Given the description of an element on the screen output the (x, y) to click on. 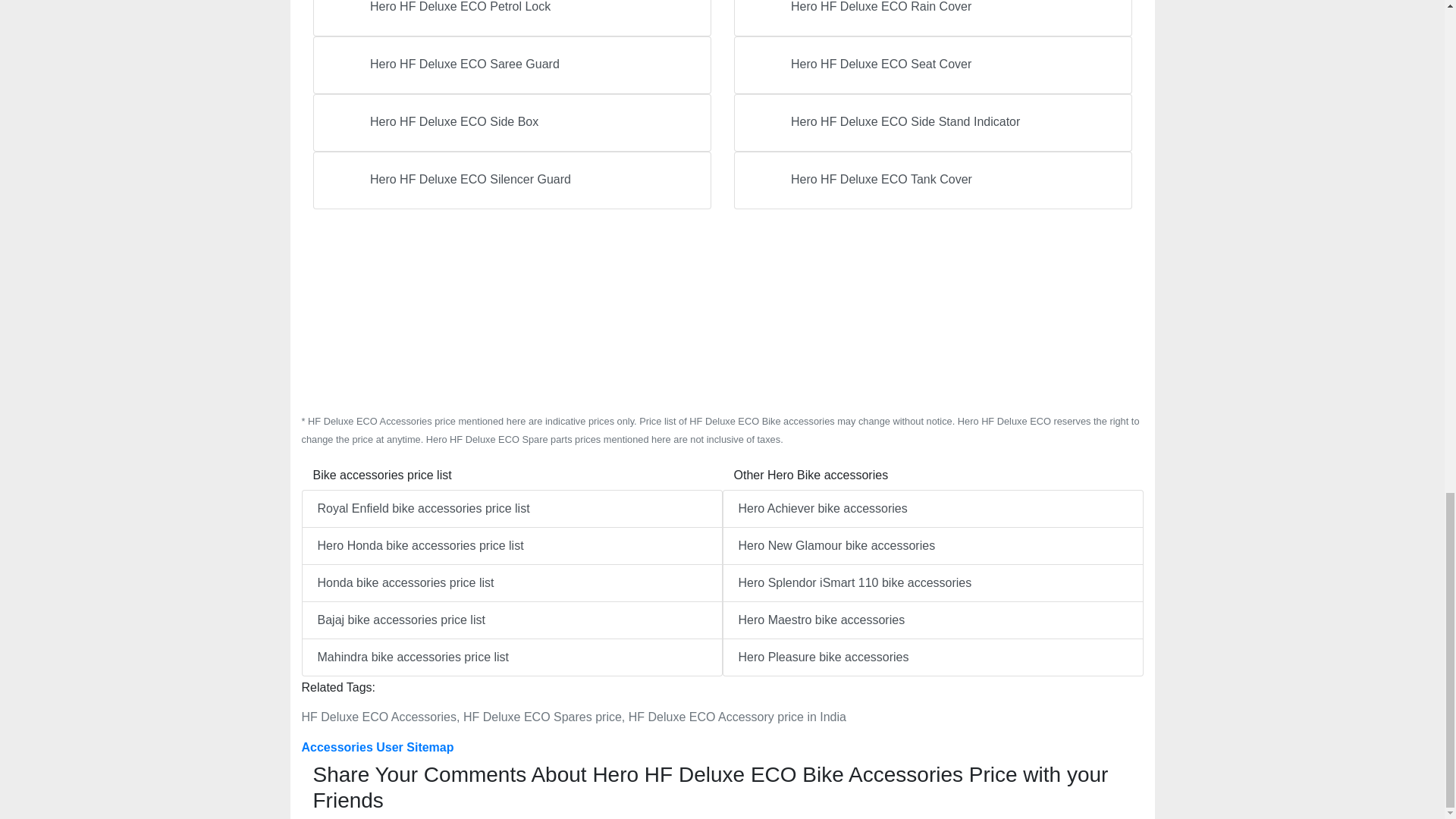
Hero HF Deluxe ECO Silencer Guard (511, 180)
Hero Honda bike accessories price list (511, 546)
Advertisement (721, 311)
Hero Pleasure bike accessories (932, 657)
Hero HF Deluxe ECO Petrol Lock (511, 18)
Hero New Glamour bike accessories (932, 546)
Hero Maestro bike accessories (932, 620)
Hero Achiever bike accessories (932, 508)
Hero HF Deluxe ECO Tank Cover (932, 180)
Hero HF Deluxe ECO Side Box (511, 122)
